Given the description of an element on the screen output the (x, y) to click on. 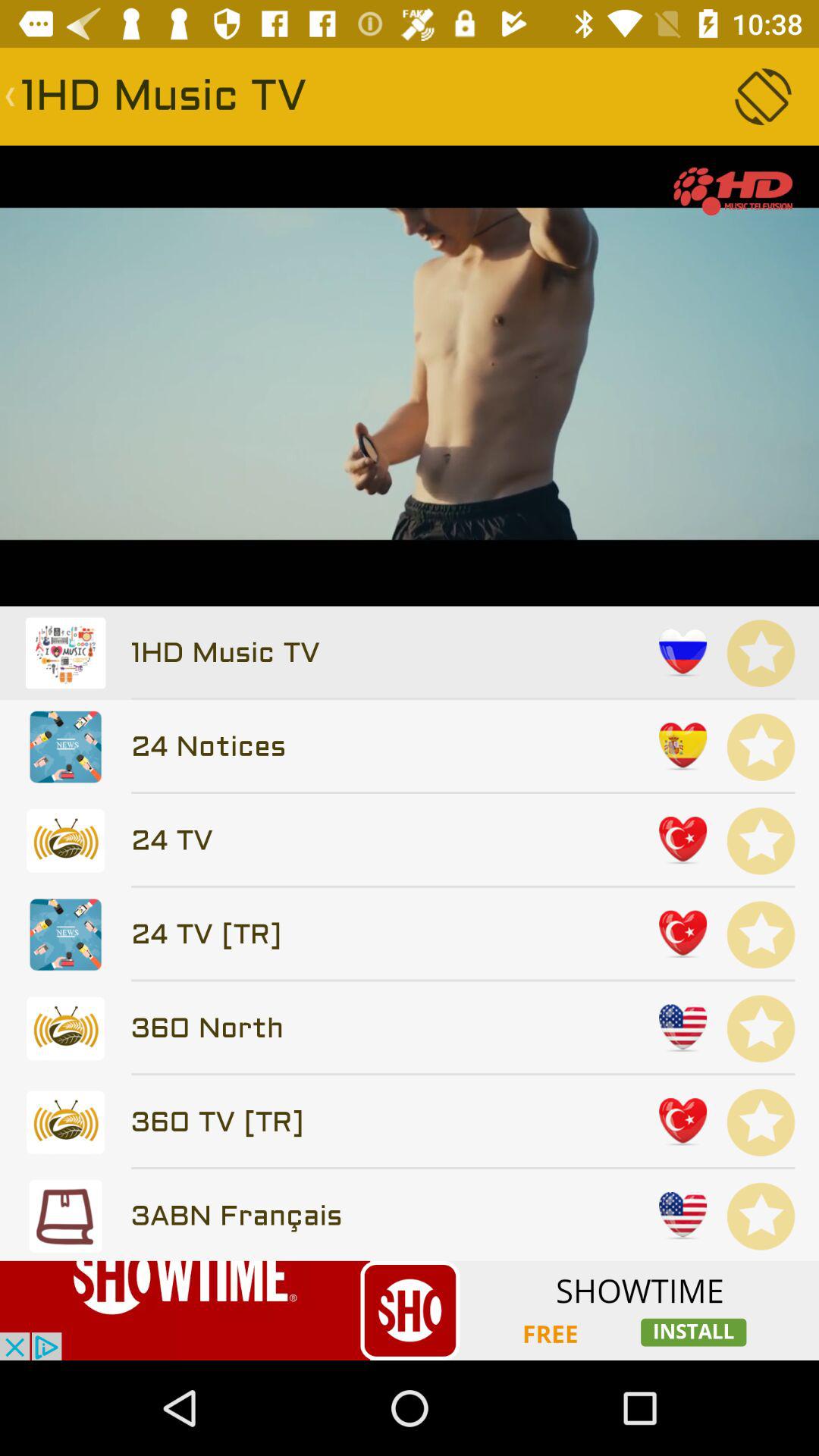
go to advertisement (409, 1310)
